Given the description of an element on the screen output the (x, y) to click on. 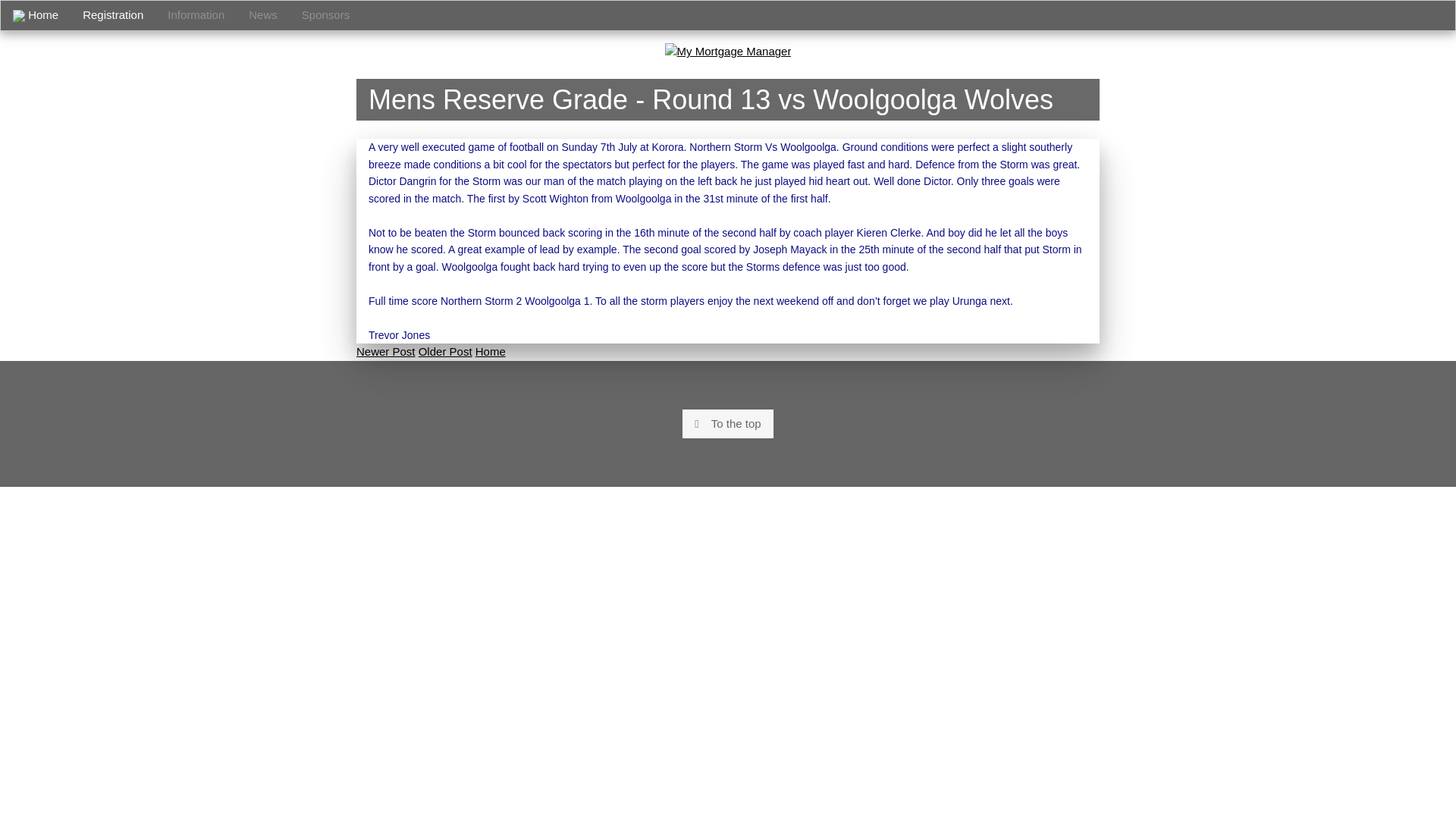
Registration (112, 15)
Information (195, 15)
Sponsors (325, 15)
My Mortgage Manager (728, 51)
News (262, 15)
 Home (35, 15)
